Given the description of an element on the screen output the (x, y) to click on. 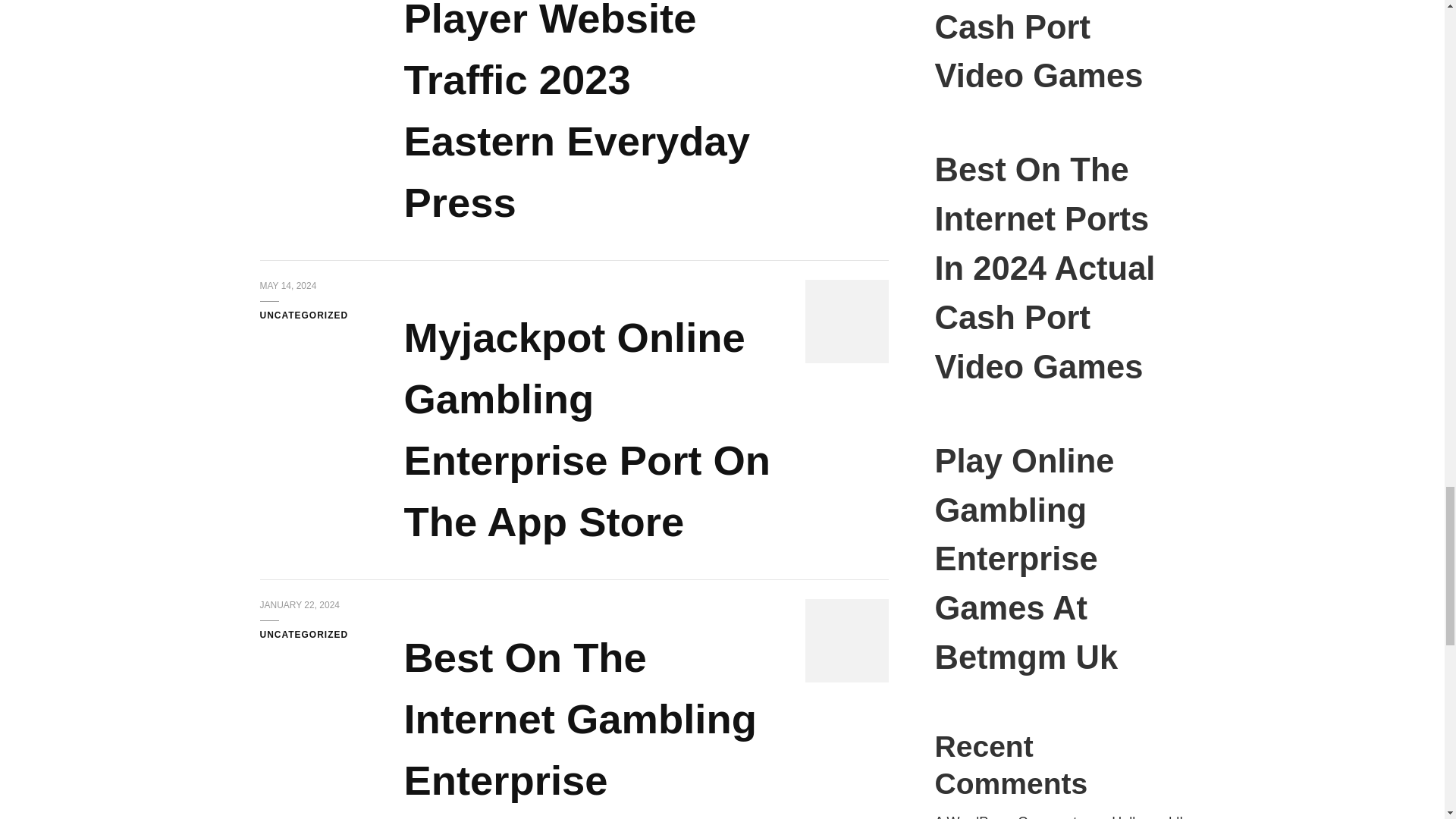
JANUARY 22, 2024 (299, 605)
Myjackpot Online Gambling Enterprise Port On The App Store (592, 429)
MAY 14, 2024 (287, 286)
UNCATEGORIZED (303, 635)
UNCATEGORIZED (303, 315)
